Given the description of an element on the screen output the (x, y) to click on. 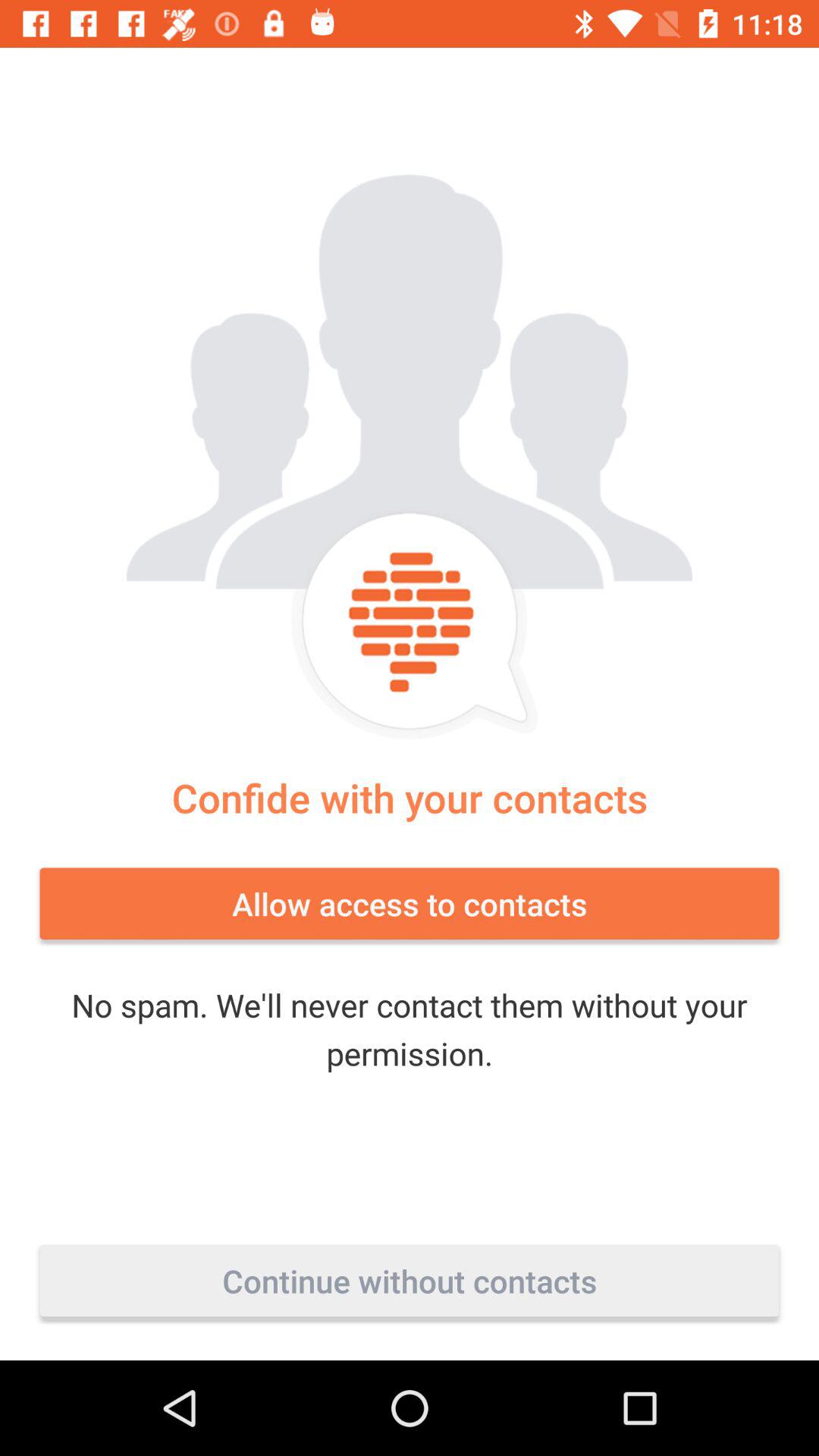
jump until the continue without contacts item (409, 1280)
